Given the description of an element on the screen output the (x, y) to click on. 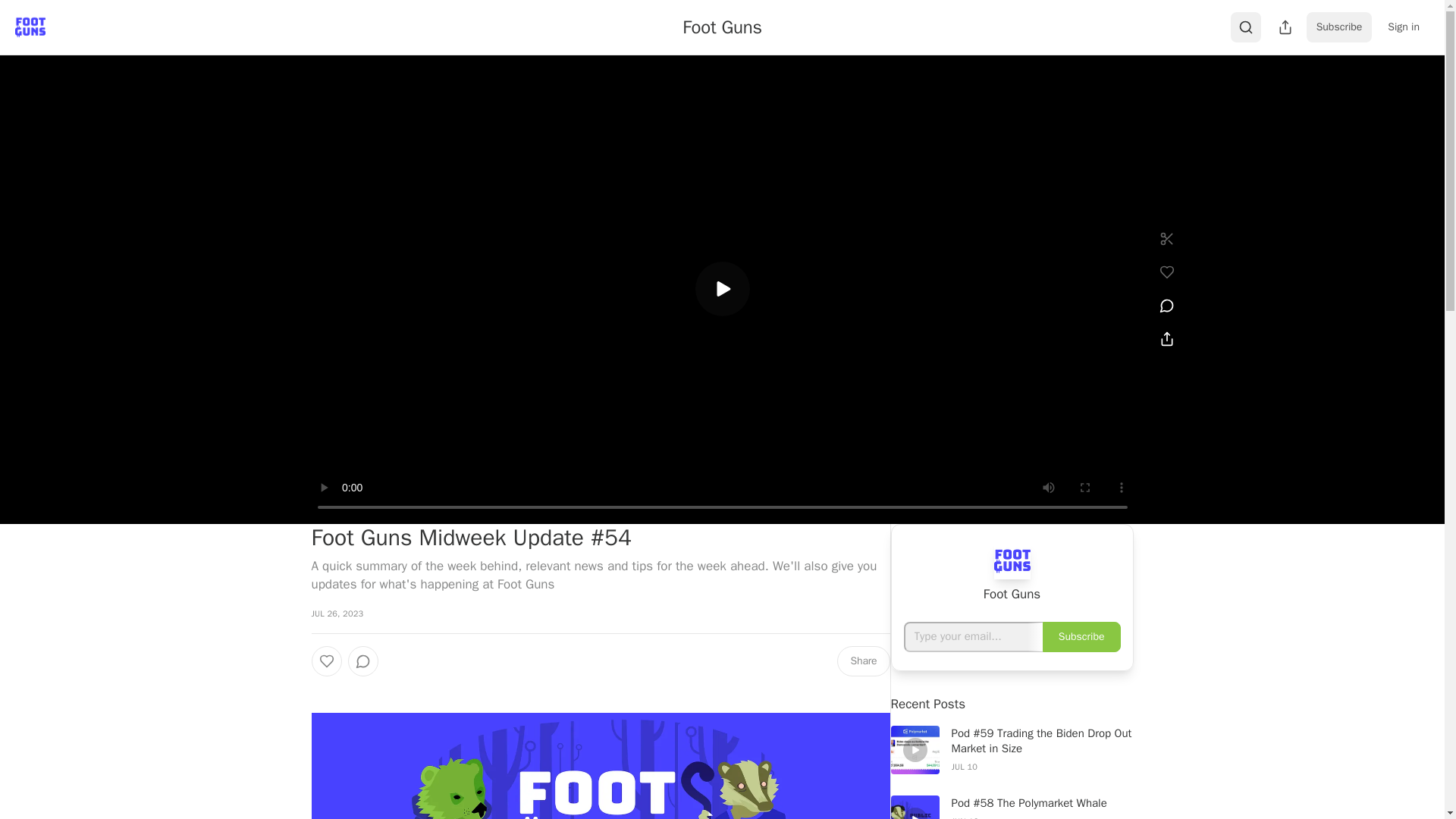
Subscribe (1339, 27)
Foot Guns (721, 26)
upgrade in order to watch this video and be able to clip it (1165, 238)
Share (863, 661)
Sign in (1403, 27)
